Given the description of an element on the screen output the (x, y) to click on. 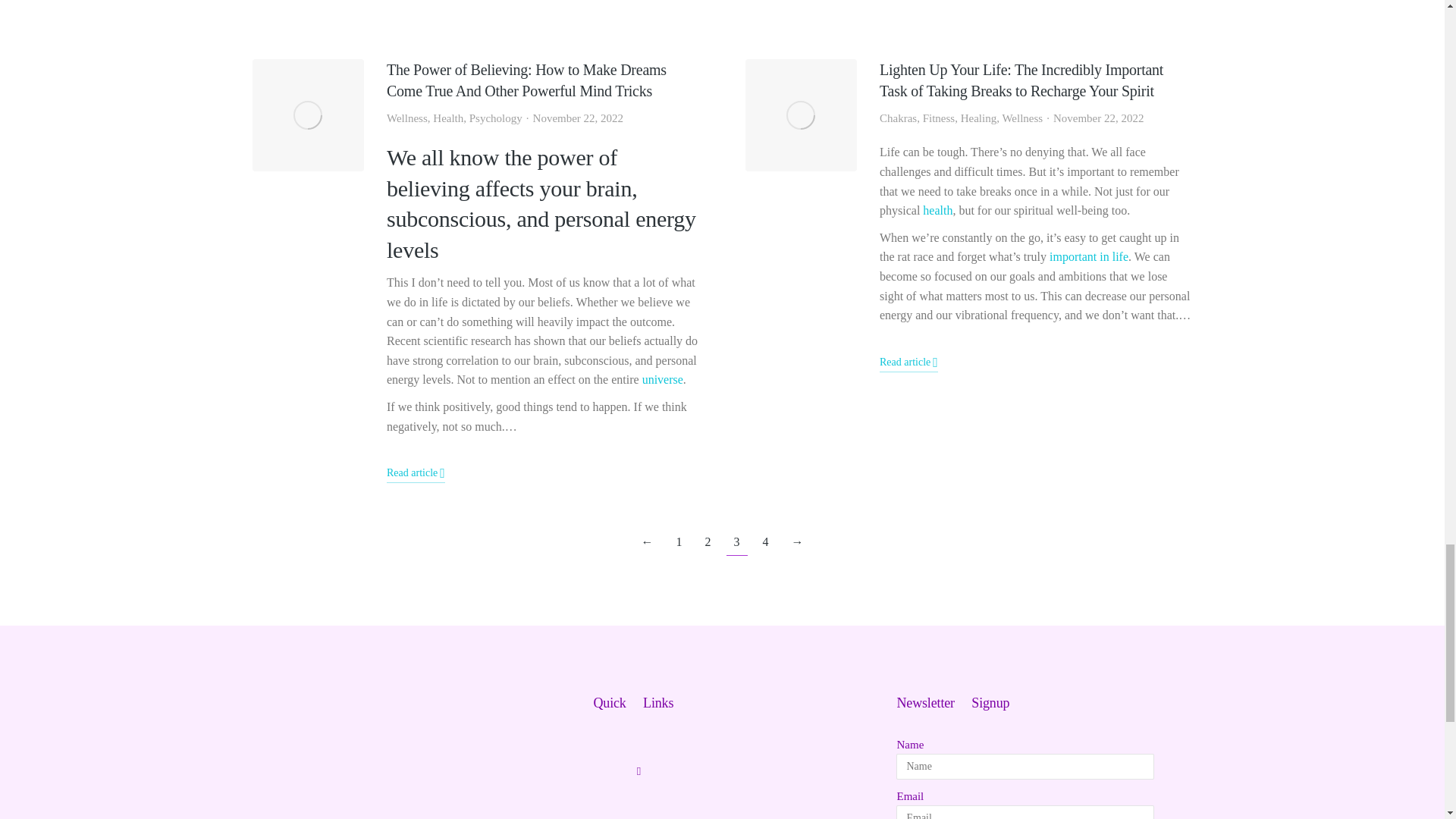
universe (662, 379)
health (937, 210)
